Given the description of an element on the screen output the (x, y) to click on. 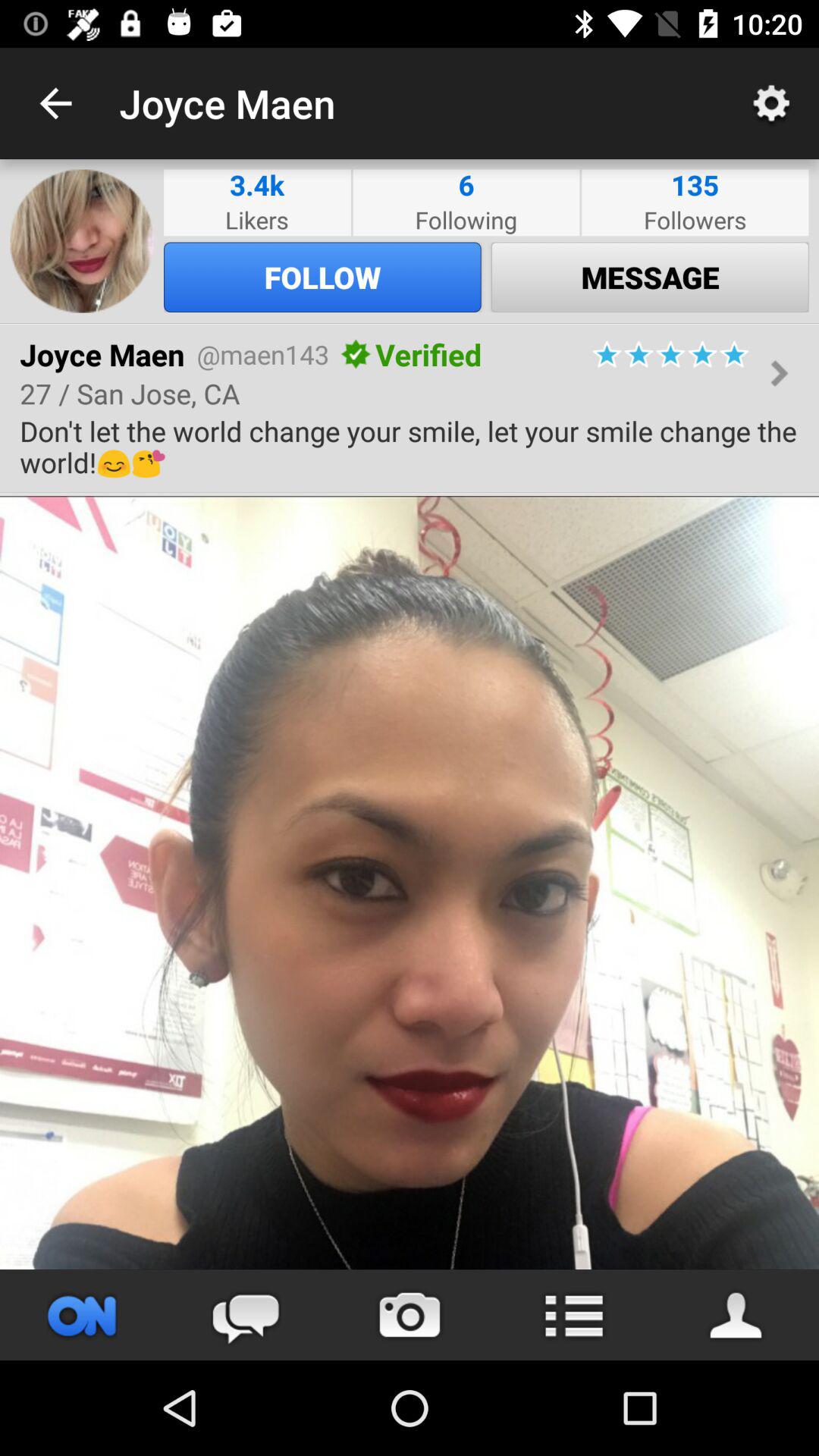
jump until follow icon (322, 277)
